Given the description of an element on the screen output the (x, y) to click on. 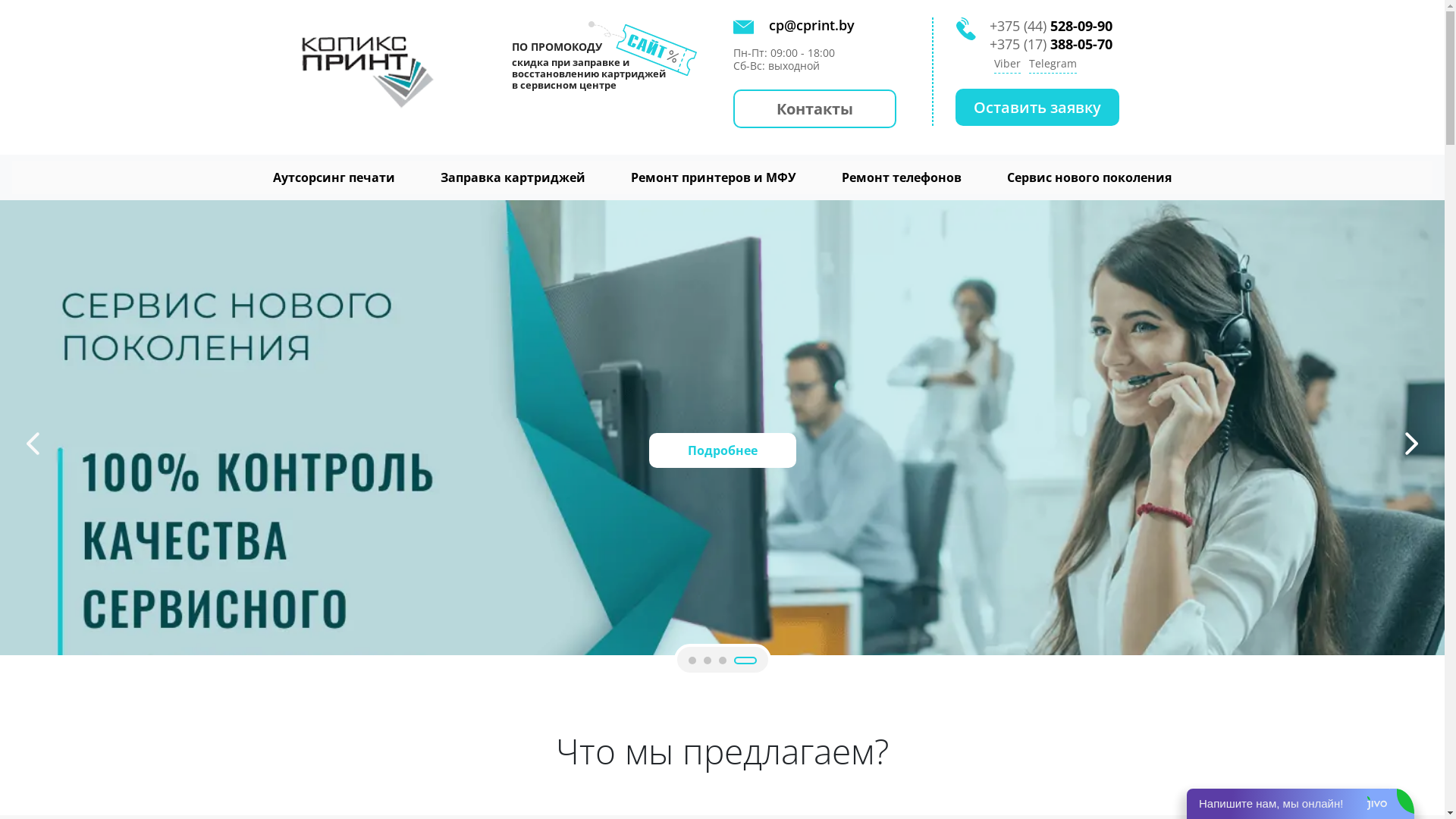
Viber Element type: text (1007, 64)
cp@cprint.by Element type: text (805, 24)
+375 (44) 528-09-90 Element type: text (1050, 26)
+375 (17) 388-05-70 Element type: text (1050, 44)
Telegram Element type: text (1052, 64)
